Given the description of an element on the screen output the (x, y) to click on. 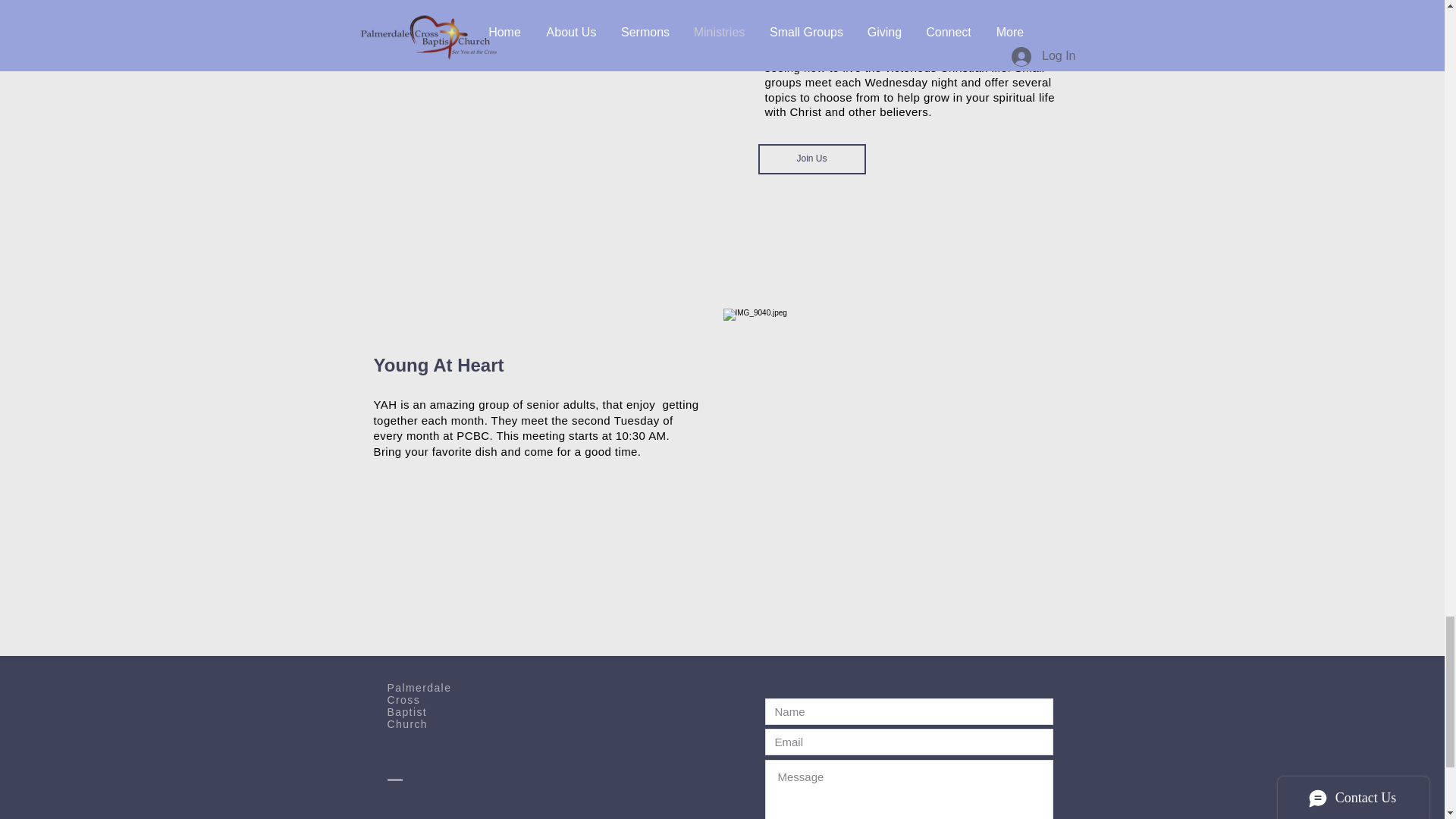
Join Us (812, 159)
